Given the description of an element on the screen output the (x, y) to click on. 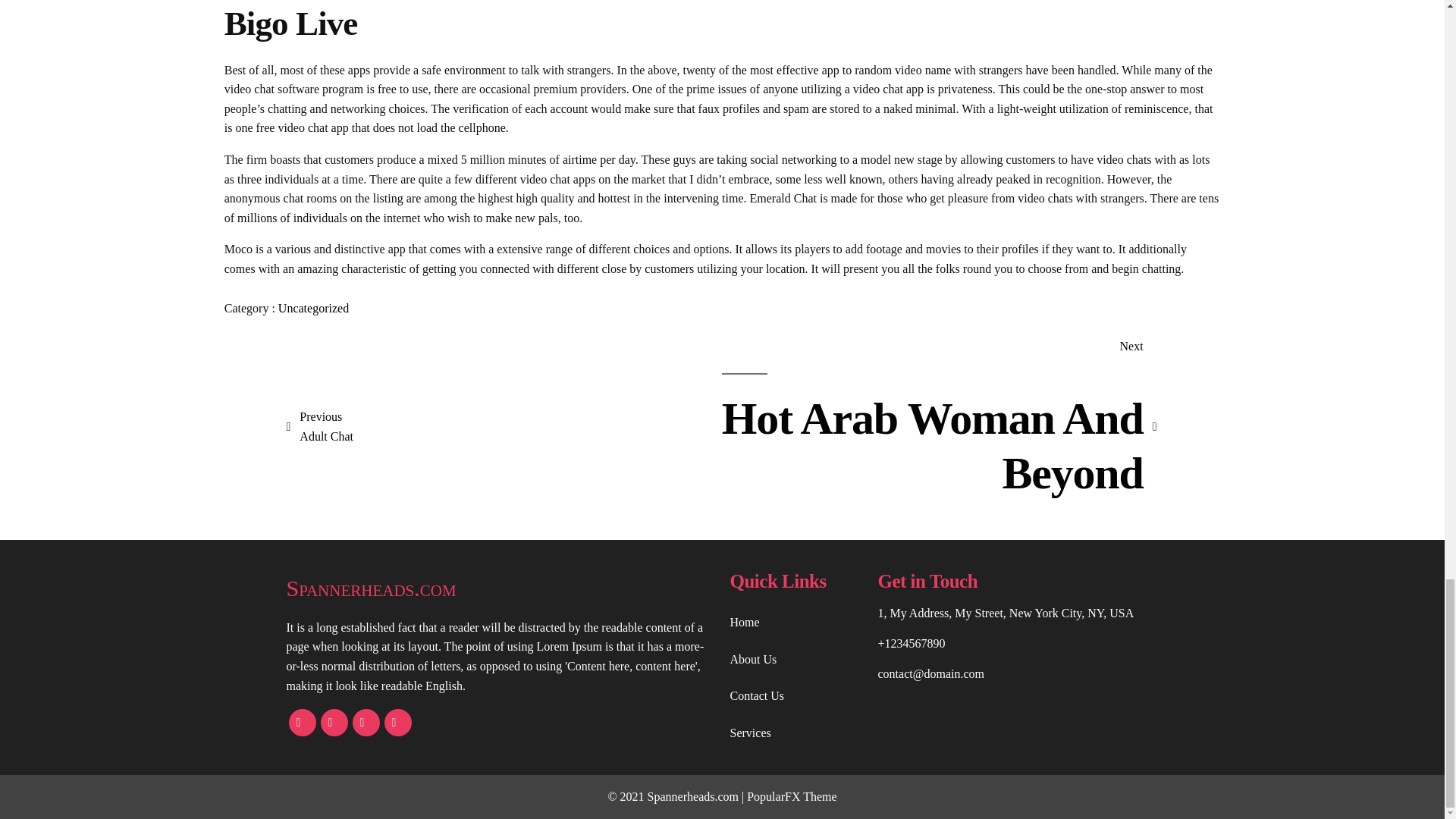
Spannerheads.com (319, 426)
Uncategorized (500, 588)
PopularFX Theme (313, 308)
